Given the description of an element on the screen output the (x, y) to click on. 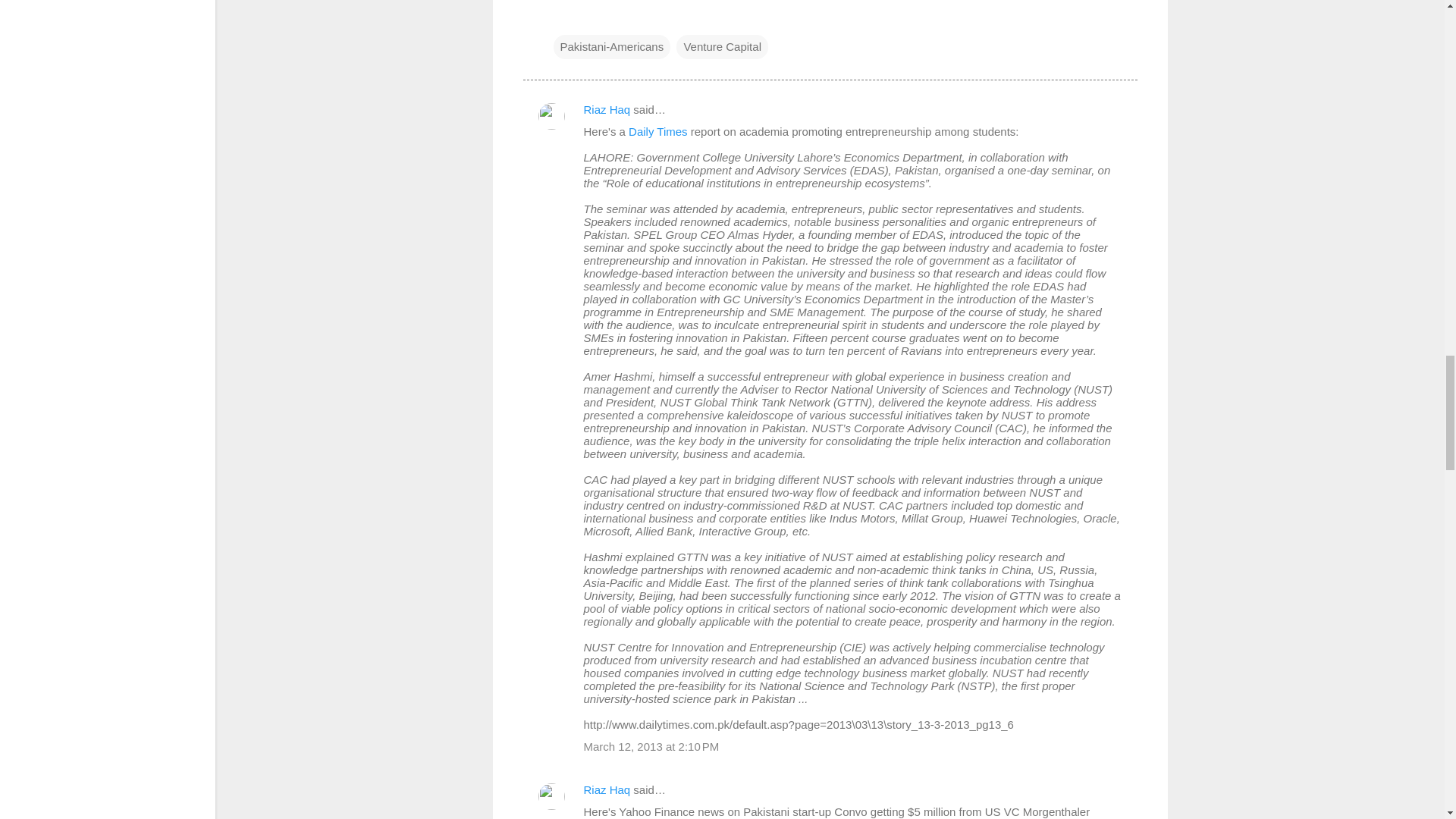
Email Post (562, 15)
comment permalink (651, 746)
